Given the description of an element on the screen output the (x, y) to click on. 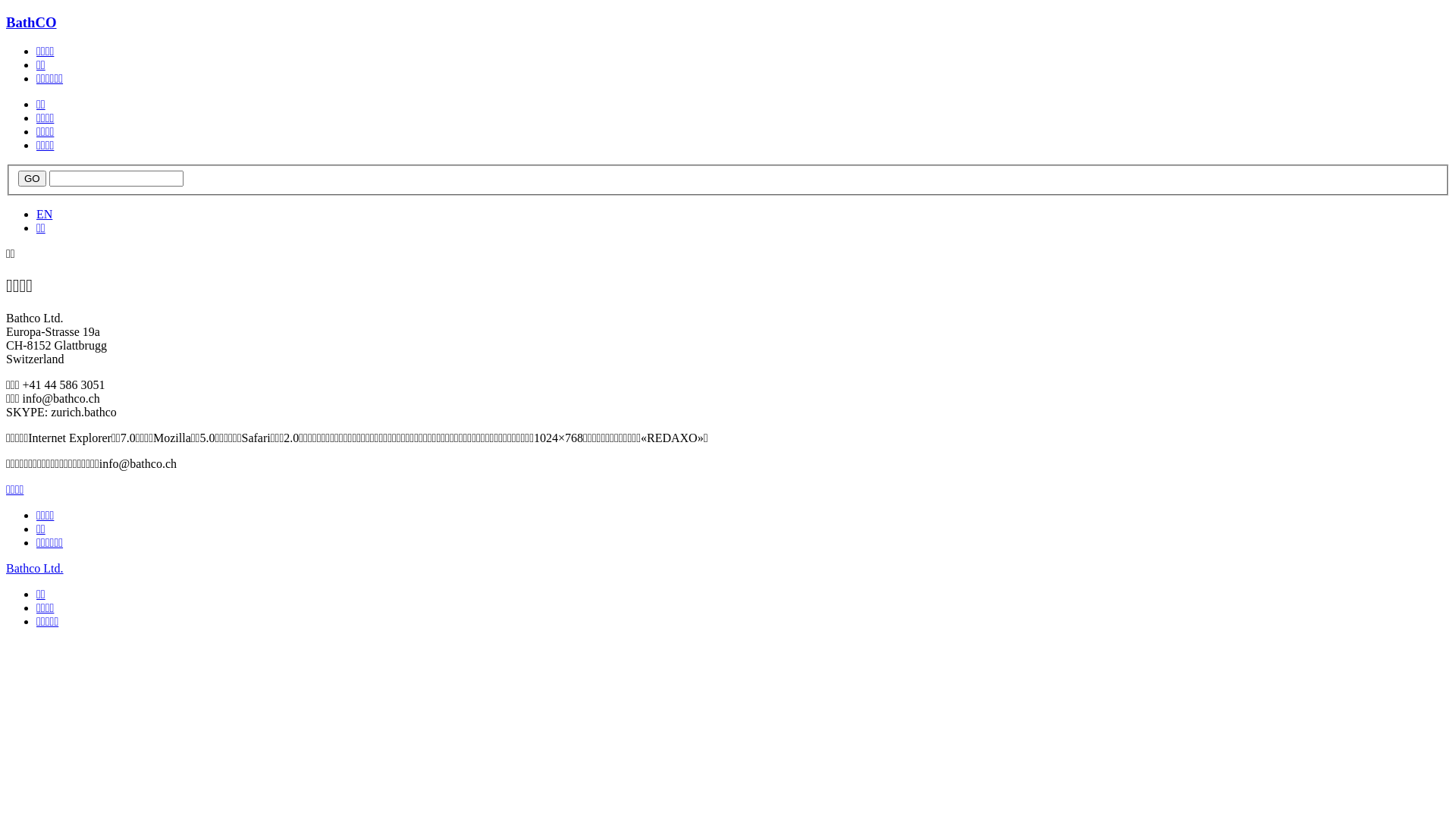
EN Element type: text (44, 213)
Bathco Ltd. Element type: text (34, 567)
GO Element type: text (32, 178)
BathCO Element type: text (31, 22)
